Given the description of an element on the screen output the (x, y) to click on. 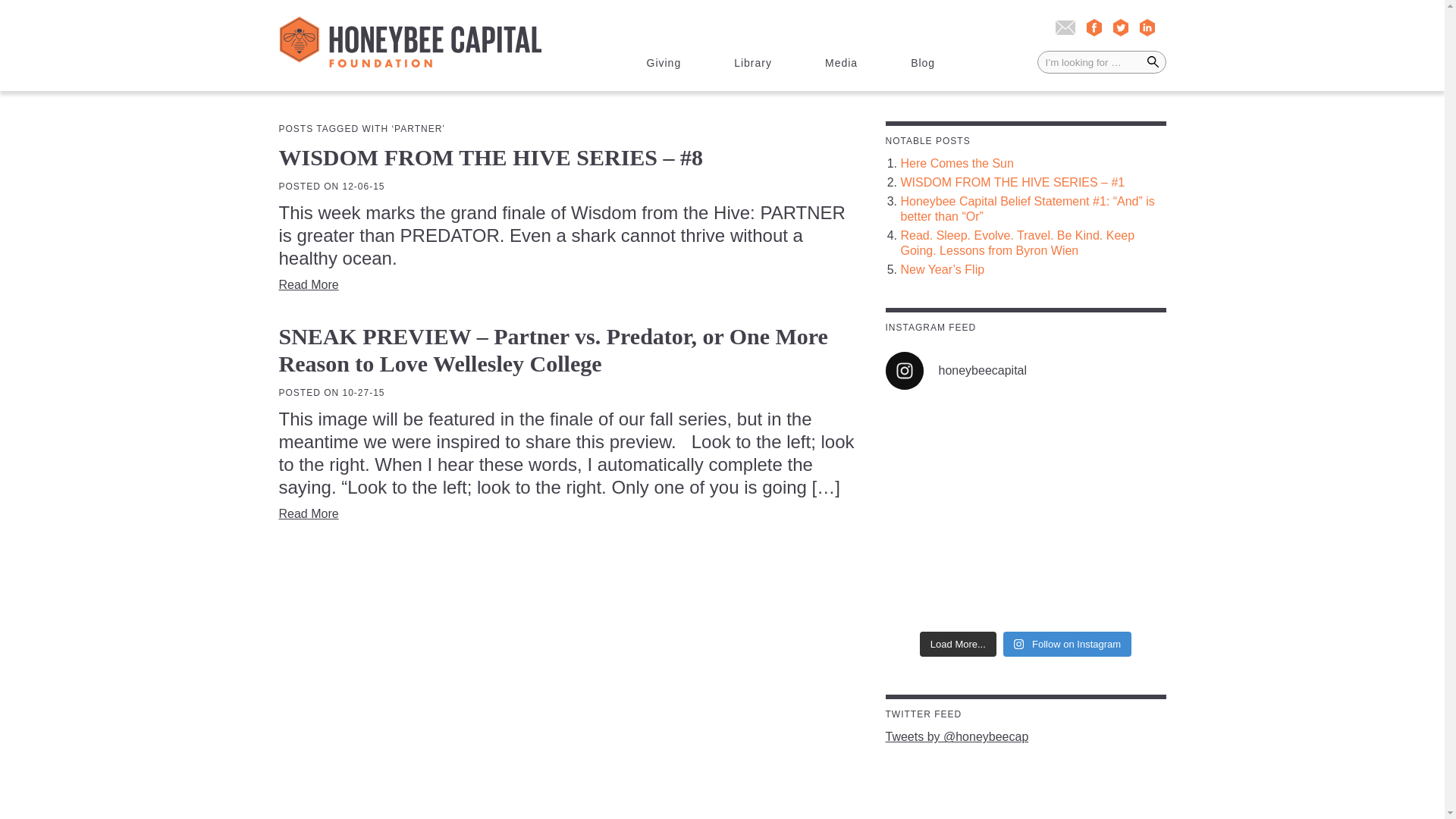
Load More... (957, 644)
Twitter (1120, 26)
honeybeecapital (1025, 370)
Giving (663, 64)
Facebook (1093, 26)
Read More (309, 284)
Here Comes the Sun (1033, 163)
LinkedIn (1146, 26)
Email (1065, 27)
